Given the description of an element on the screen output the (x, y) to click on. 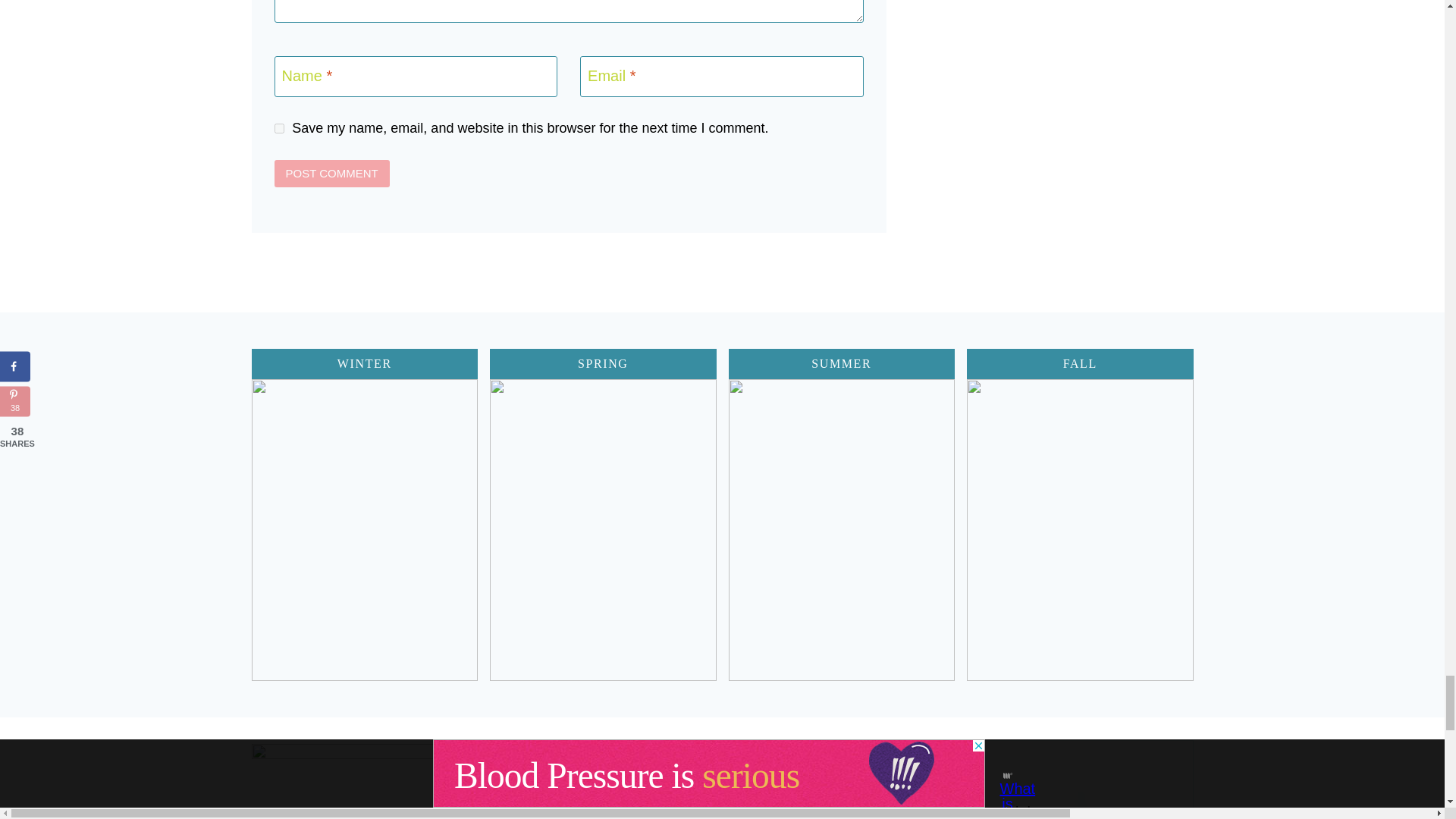
Post Comment (332, 173)
yes (279, 128)
